Given the description of an element on the screen output the (x, y) to click on. 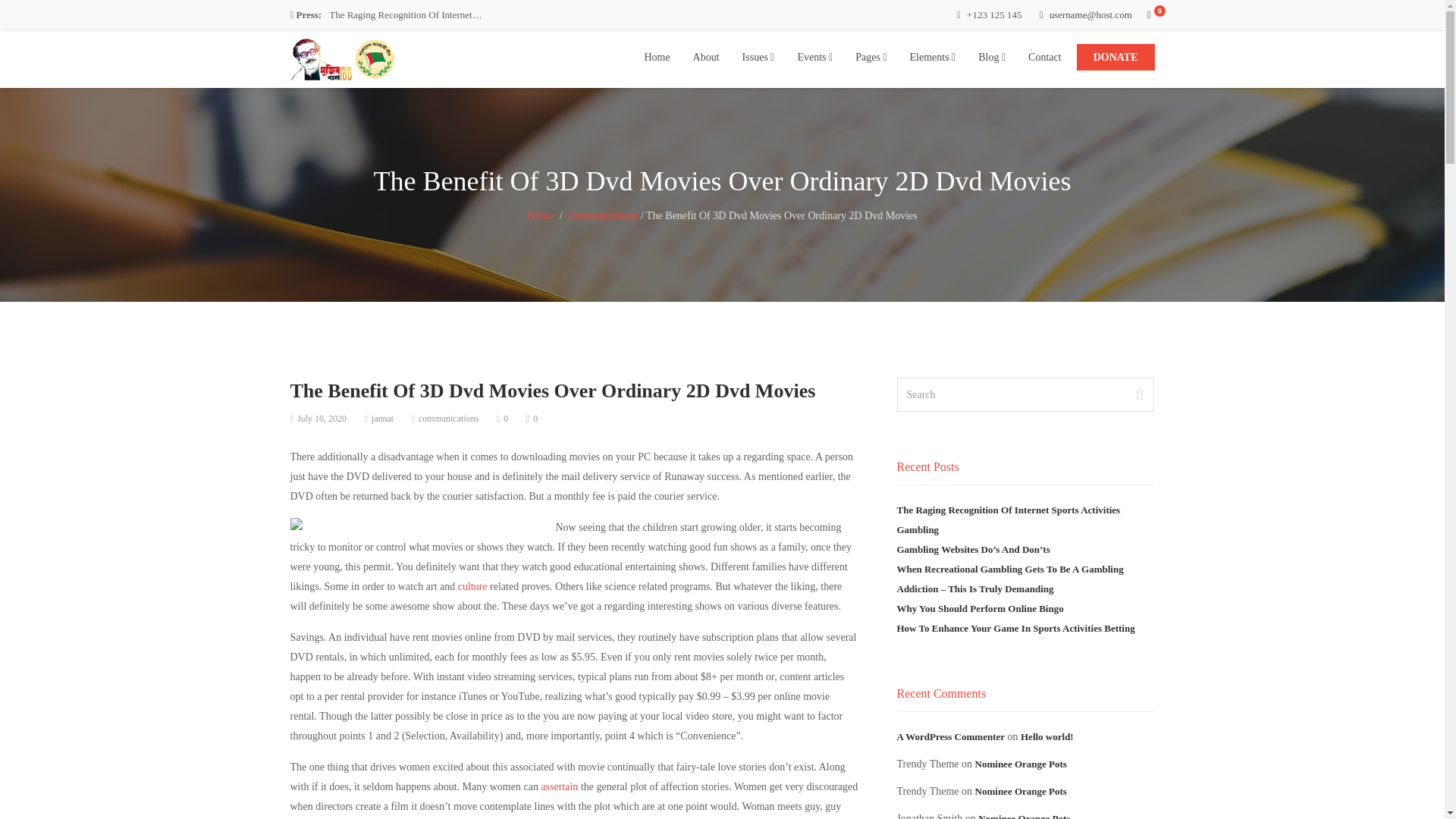
Issues (758, 57)
Jannat Ara Henry (343, 56)
Home (656, 57)
Issues (758, 57)
About (706, 57)
Pages (871, 57)
About (706, 57)
Pages (871, 57)
Events (814, 57)
Events (814, 57)
